Given the description of an element on the screen output the (x, y) to click on. 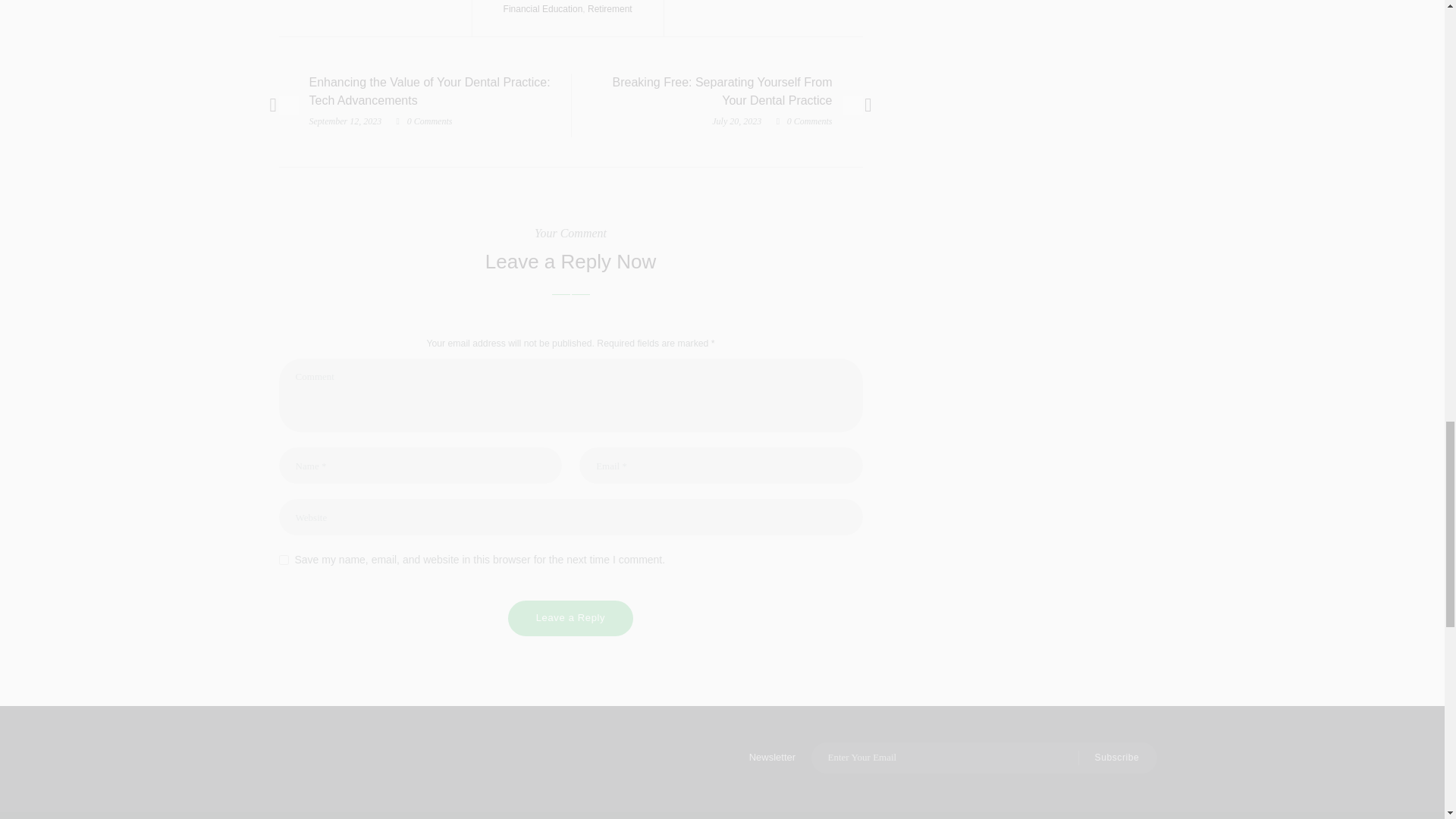
Leave a Reply (569, 618)
Retirement (609, 9)
yes (283, 560)
Financial Education (543, 9)
Submit (1109, 757)
